Given the description of an element on the screen output the (x, y) to click on. 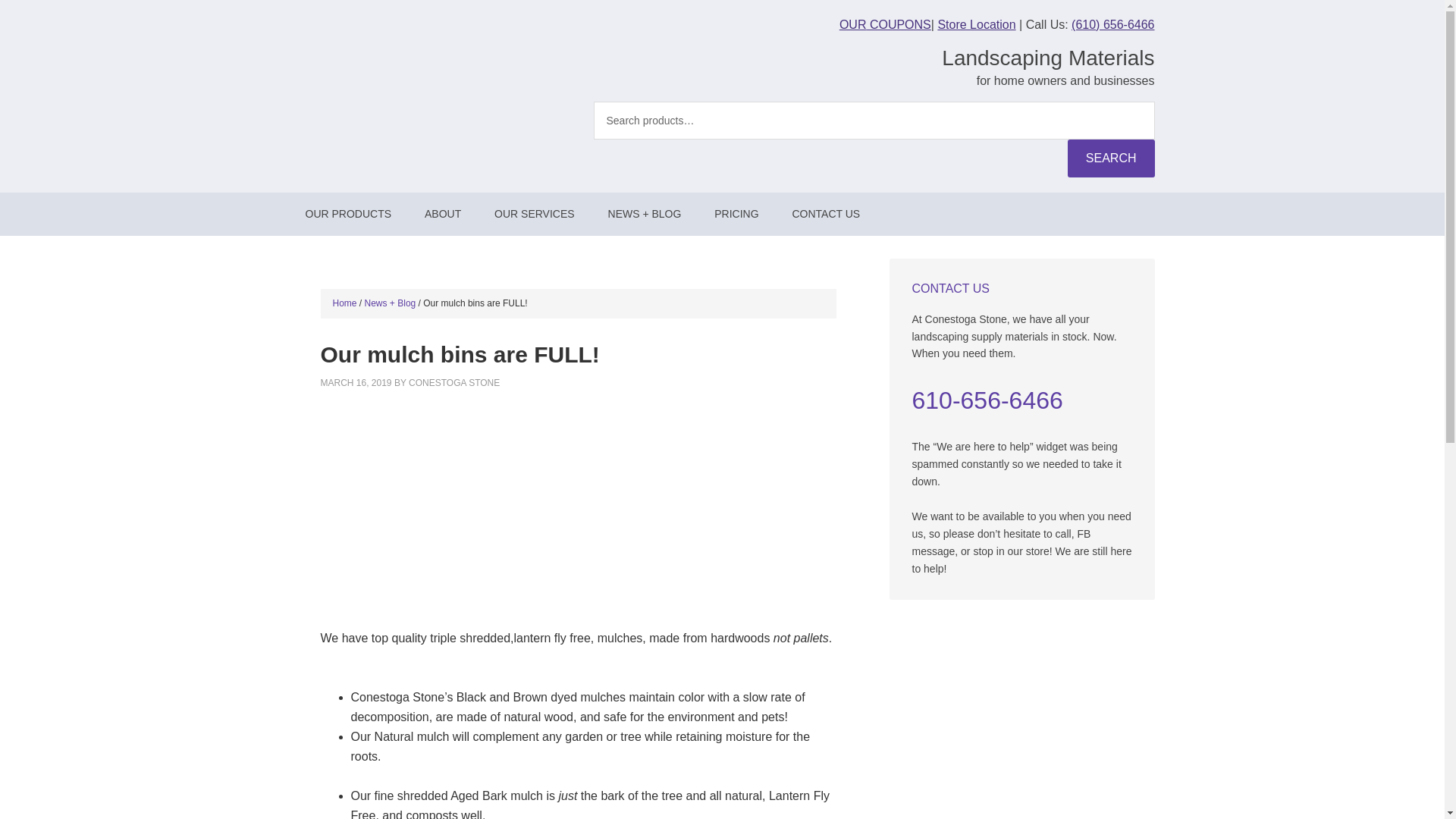
610-656-6466 (986, 400)
CONTACT US (825, 213)
OUR PRODUCTS (347, 213)
OUR COUPONS (885, 24)
Conestoga Stone Bulk Mulch (509, 515)
Store Location (975, 24)
CONESTOGA STONE (418, 52)
CONESTOGA STONE (454, 382)
Home (343, 303)
PRICING (735, 213)
